Given the description of an element on the screen output the (x, y) to click on. 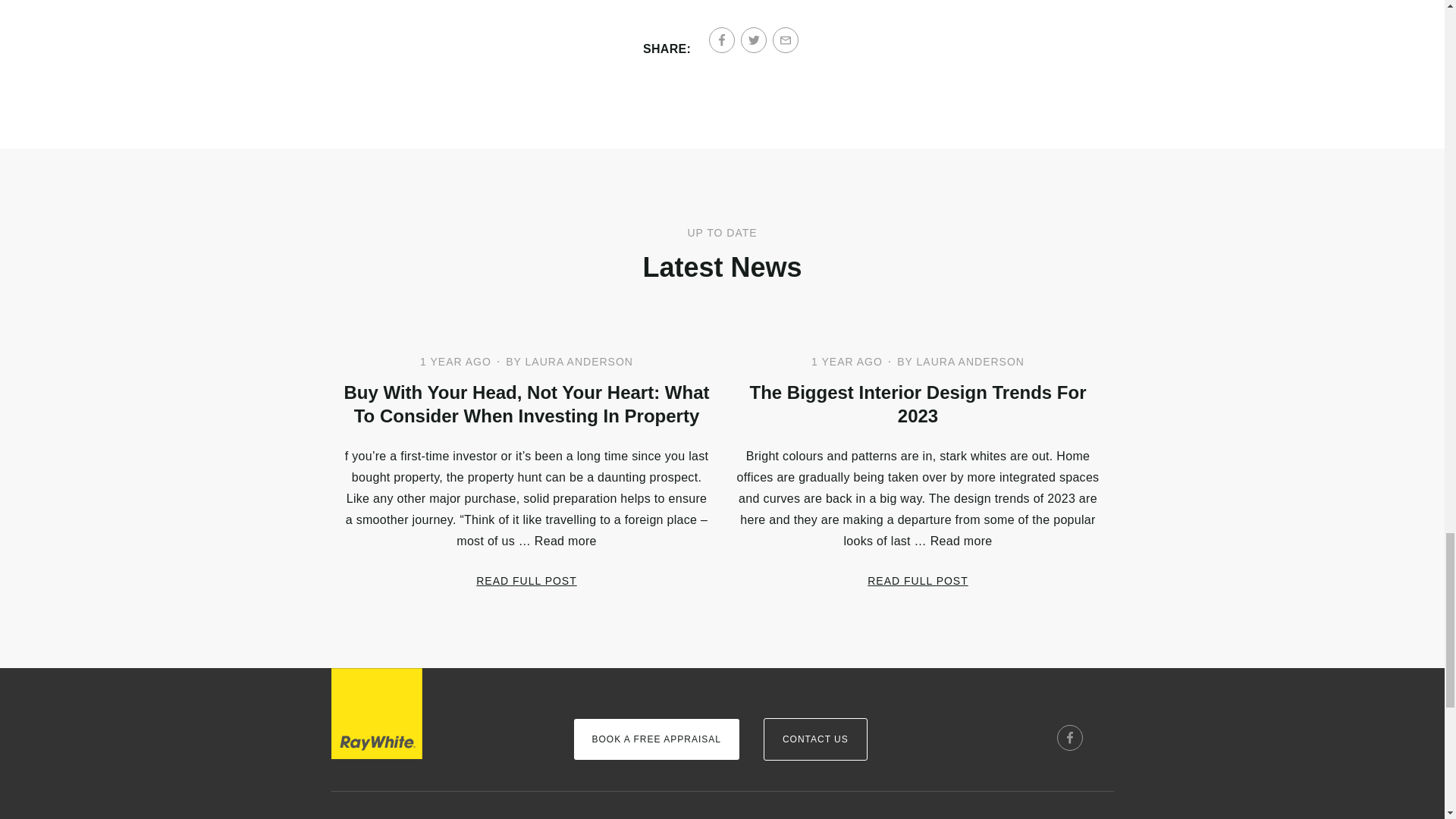
CONTACT US (814, 739)
Ray White (376, 713)
BOOK A FREE APPRAISAL (655, 739)
Twitter (754, 40)
Email (785, 40)
The Biggest Interior Design Trends For 2023 (916, 403)
READ FULL POST (526, 580)
READ FULL POST (917, 580)
Facebook (1070, 737)
Facebook (722, 40)
